Given the description of an element on the screen output the (x, y) to click on. 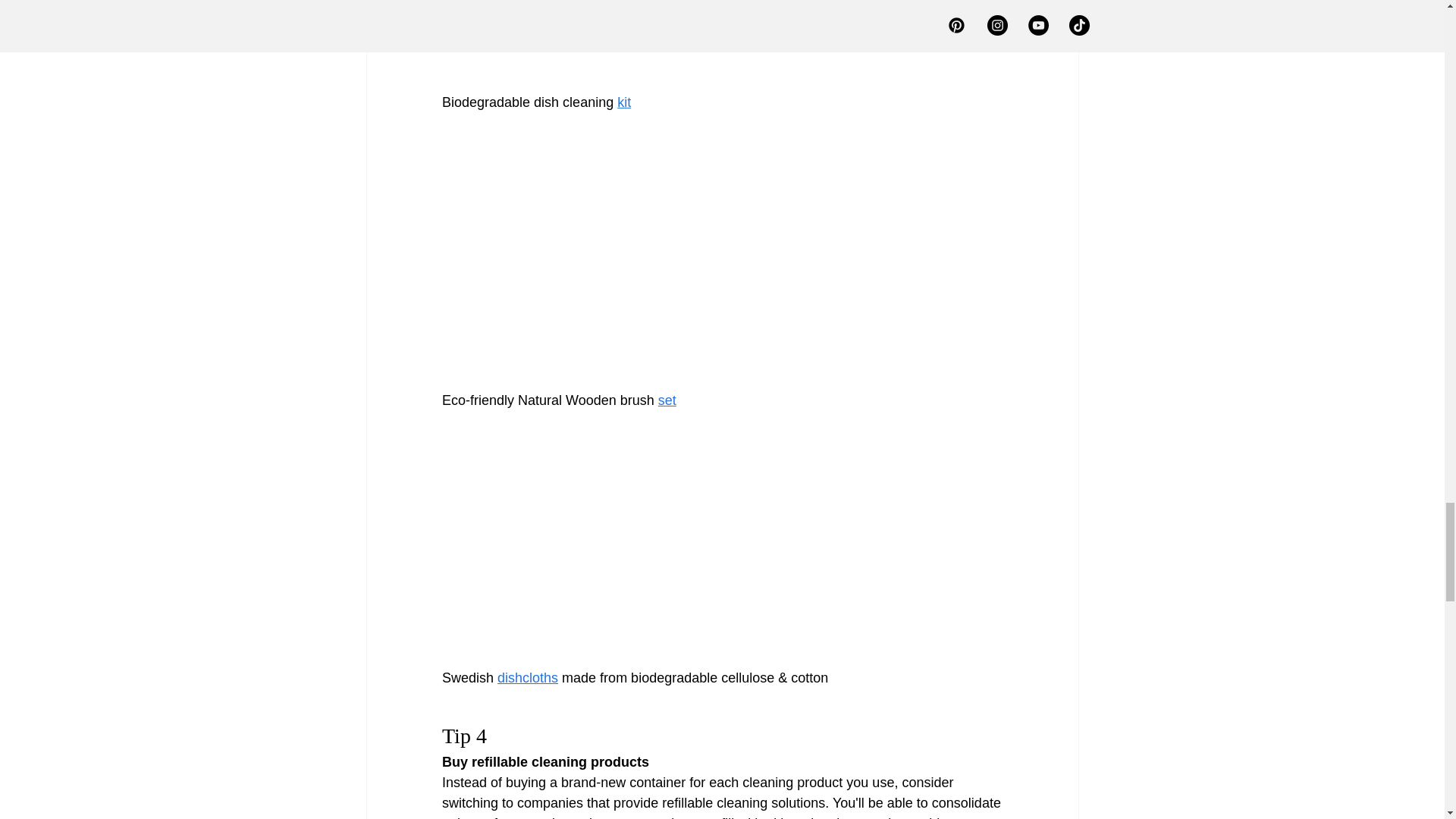
kit (623, 102)
dishcloths (527, 677)
set (666, 400)
